Given the description of an element on the screen output the (x, y) to click on. 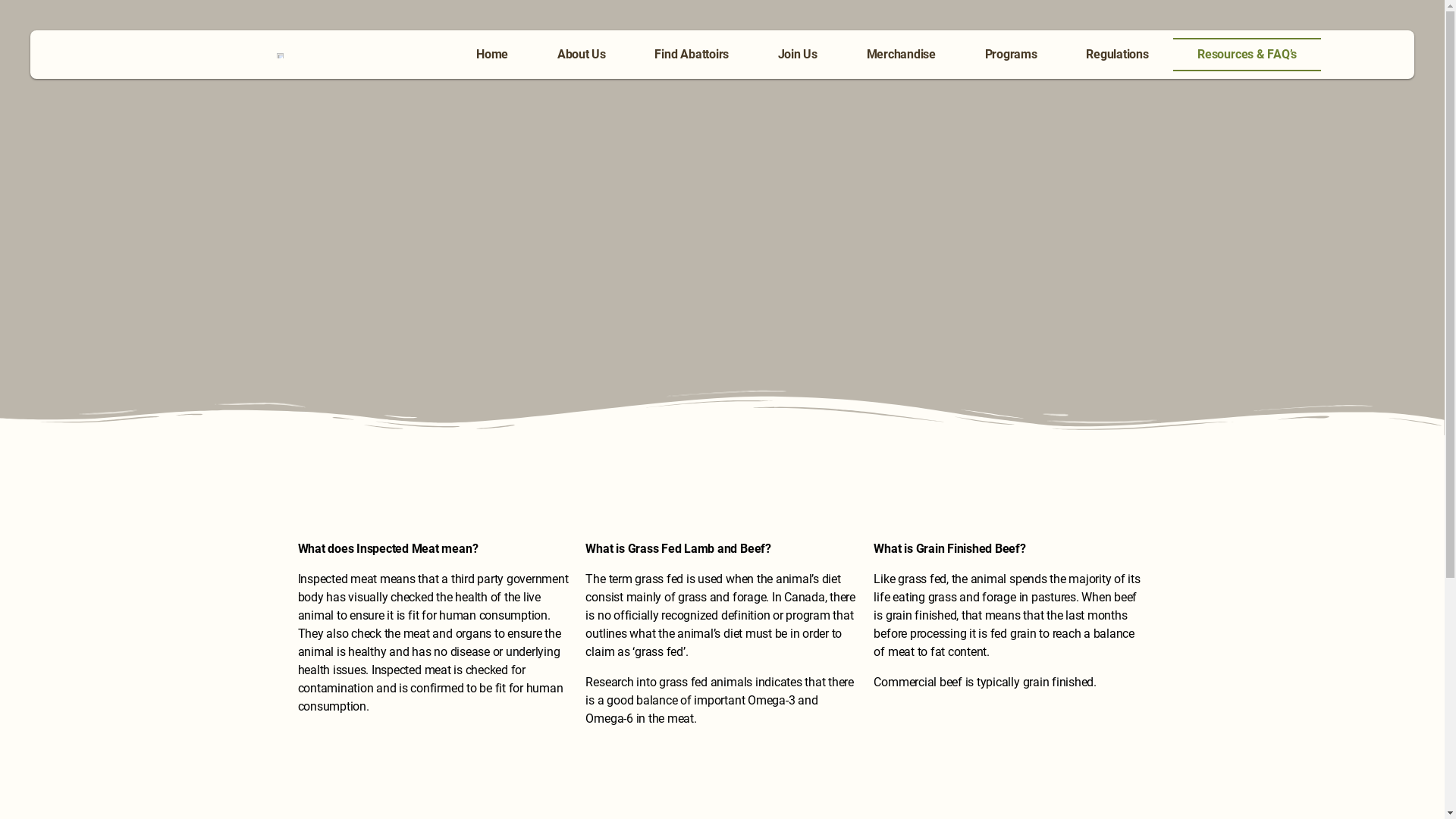
About Us Element type: text (581, 54)
Programs Element type: text (1010, 54)
Home Element type: text (492, 54)
Join Us Element type: text (797, 54)
Regulations Element type: text (1117, 54)
Merchandise Element type: text (900, 54)
Find Abattoirs Element type: text (691, 54)
